Given the description of an element on the screen output the (x, y) to click on. 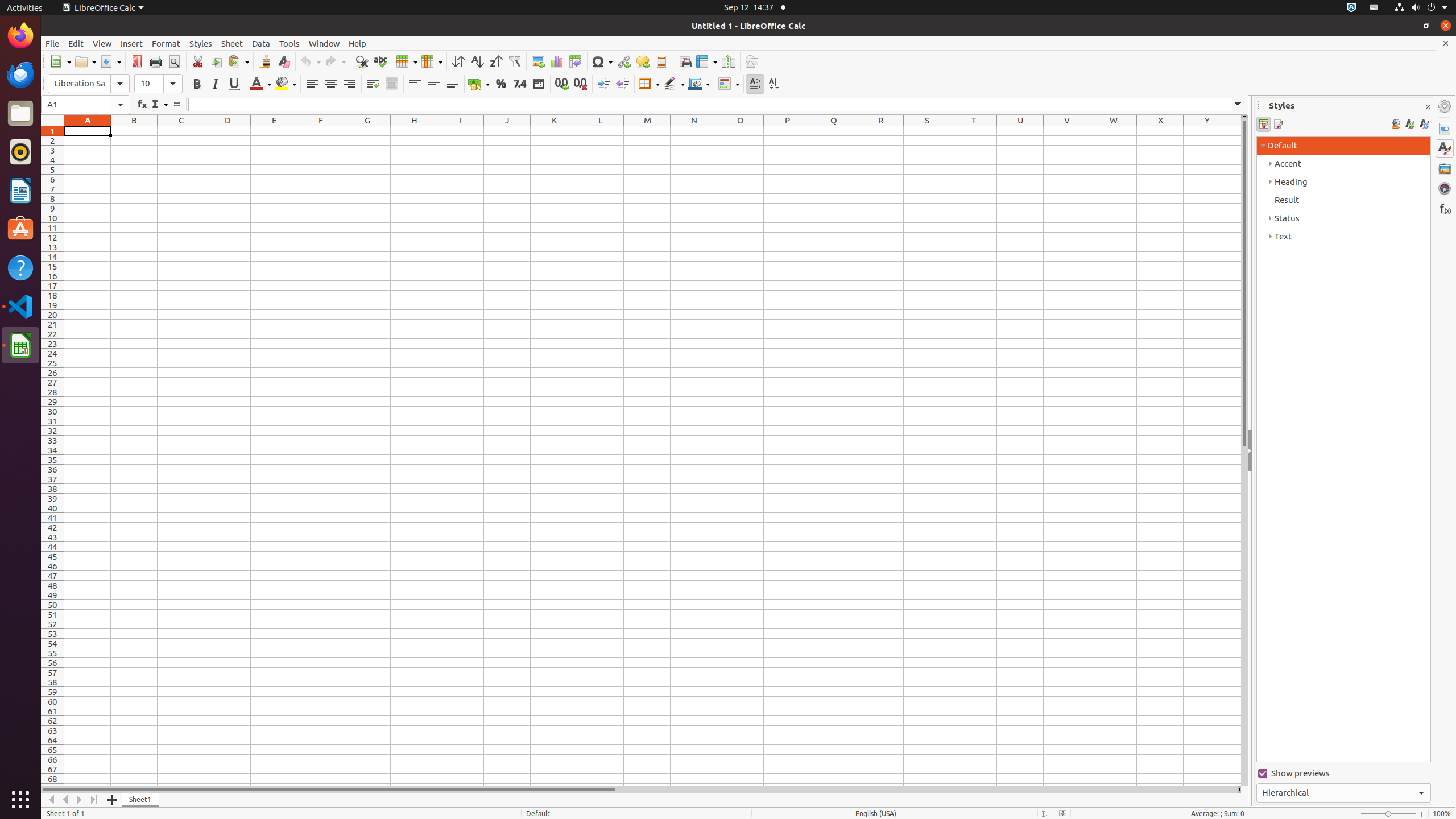
Copy Element type: push-button (216, 61)
Align Center Element type: push-button (330, 83)
V1 Element type: table-cell (1066, 130)
Select Function Element type: push-button (159, 104)
Borders (Shift to overwrite) Element type: push-button (648, 83)
